Given the description of an element on the screen output the (x, y) to click on. 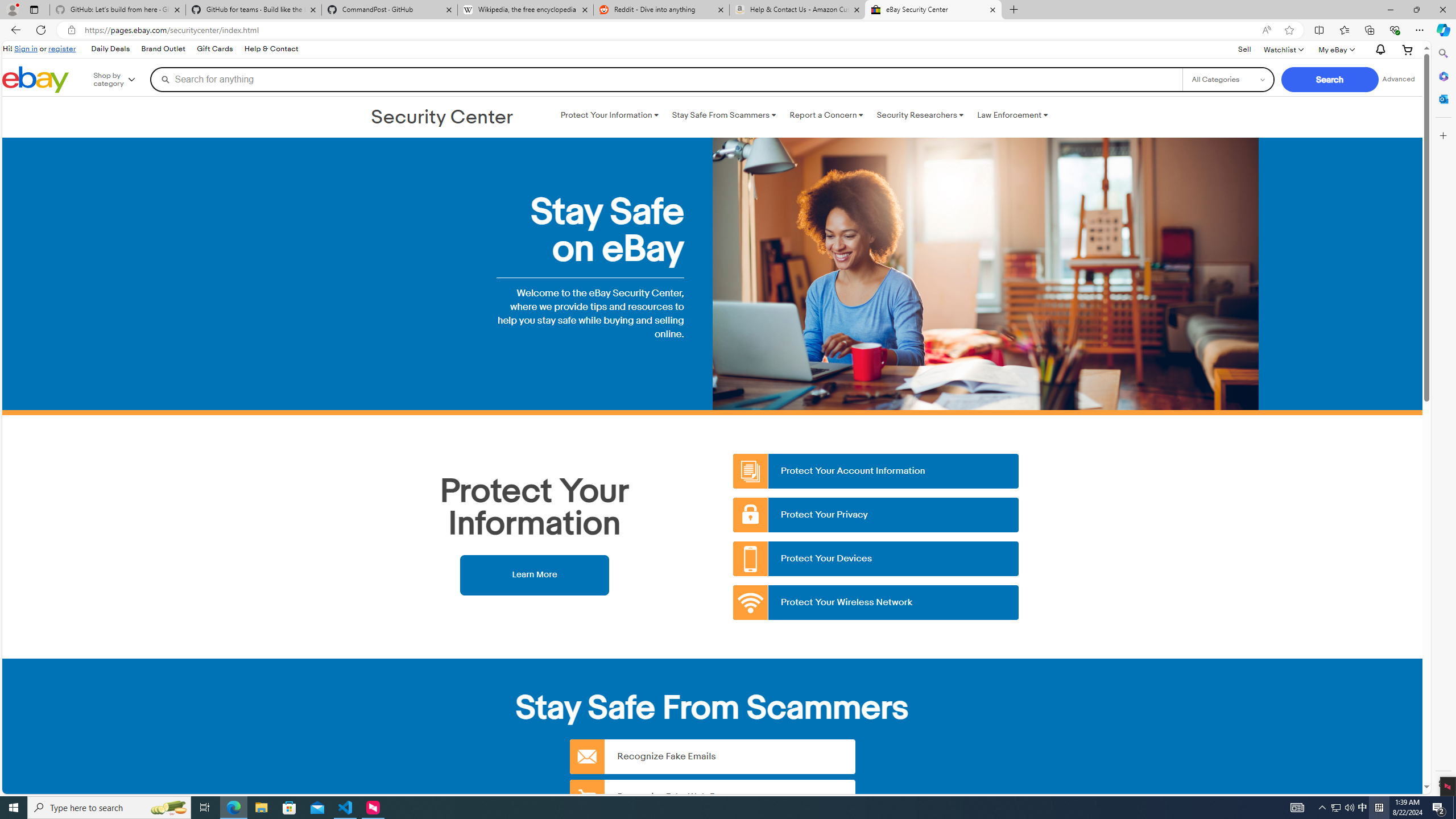
Help & Contact Us - Amazon Customer Service - Sleeping (797, 9)
WatchlistExpand Watch List (1282, 49)
eBay Home (35, 79)
Law Enforcement  (1012, 115)
Learn More (534, 574)
register (61, 48)
Search for anything (665, 78)
Protect Your Information  (608, 115)
